Given the description of an element on the screen output the (x, y) to click on. 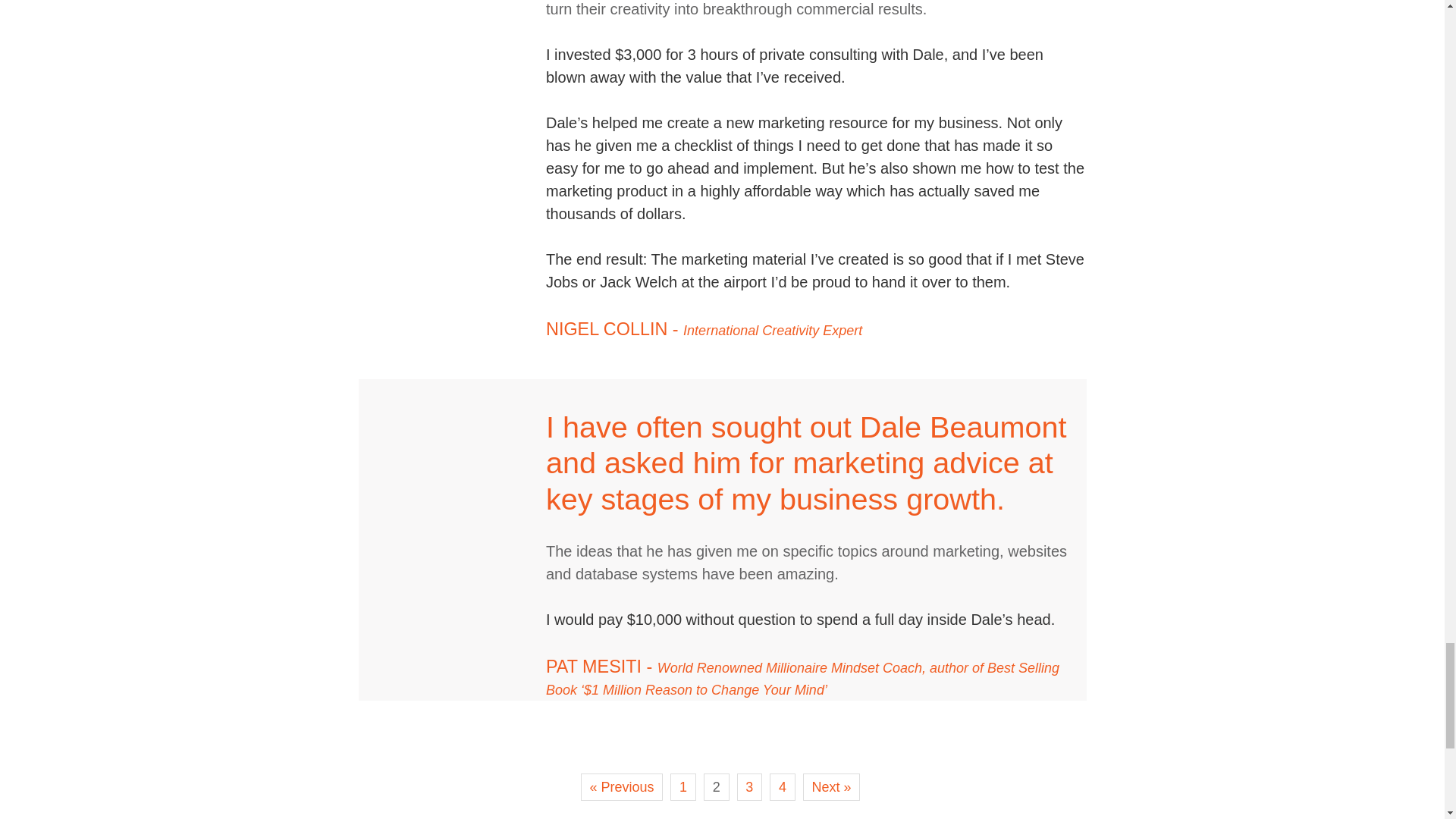
3 (749, 786)
4 (782, 786)
1 (682, 786)
